Given the description of an element on the screen output the (x, y) to click on. 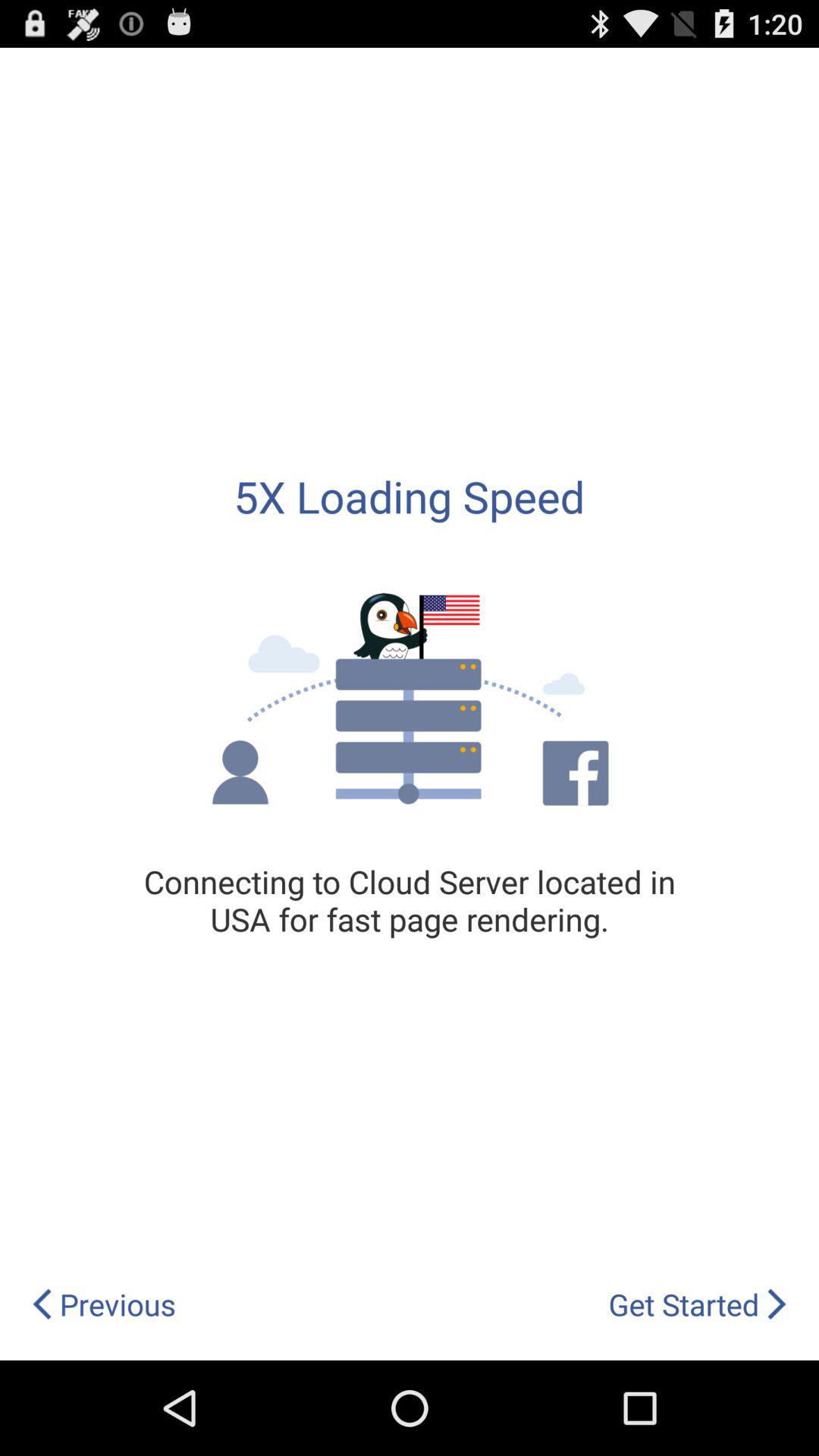
press item next to previous app (697, 1304)
